Given the description of an element on the screen output the (x, y) to click on. 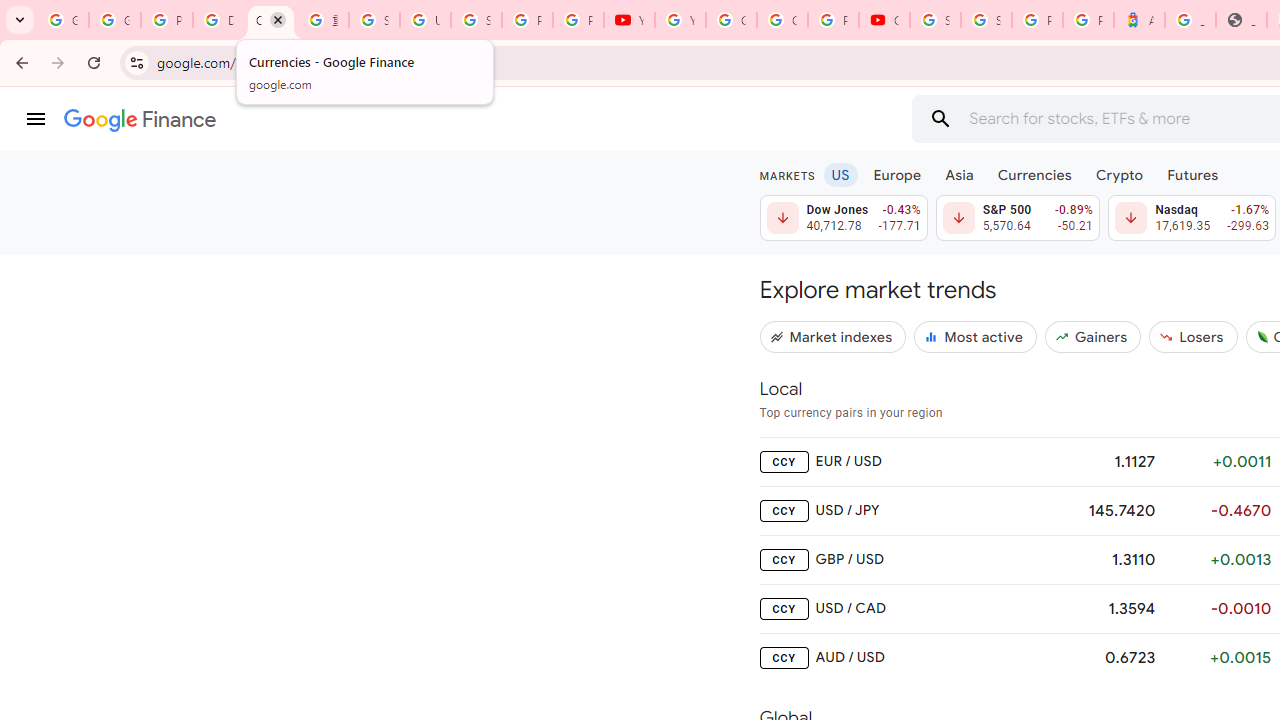
S&P 500 5,570.64 Down by 0.89% -50.21 (1017, 218)
Europe (897, 174)
